Given the description of an element on the screen output the (x, y) to click on. 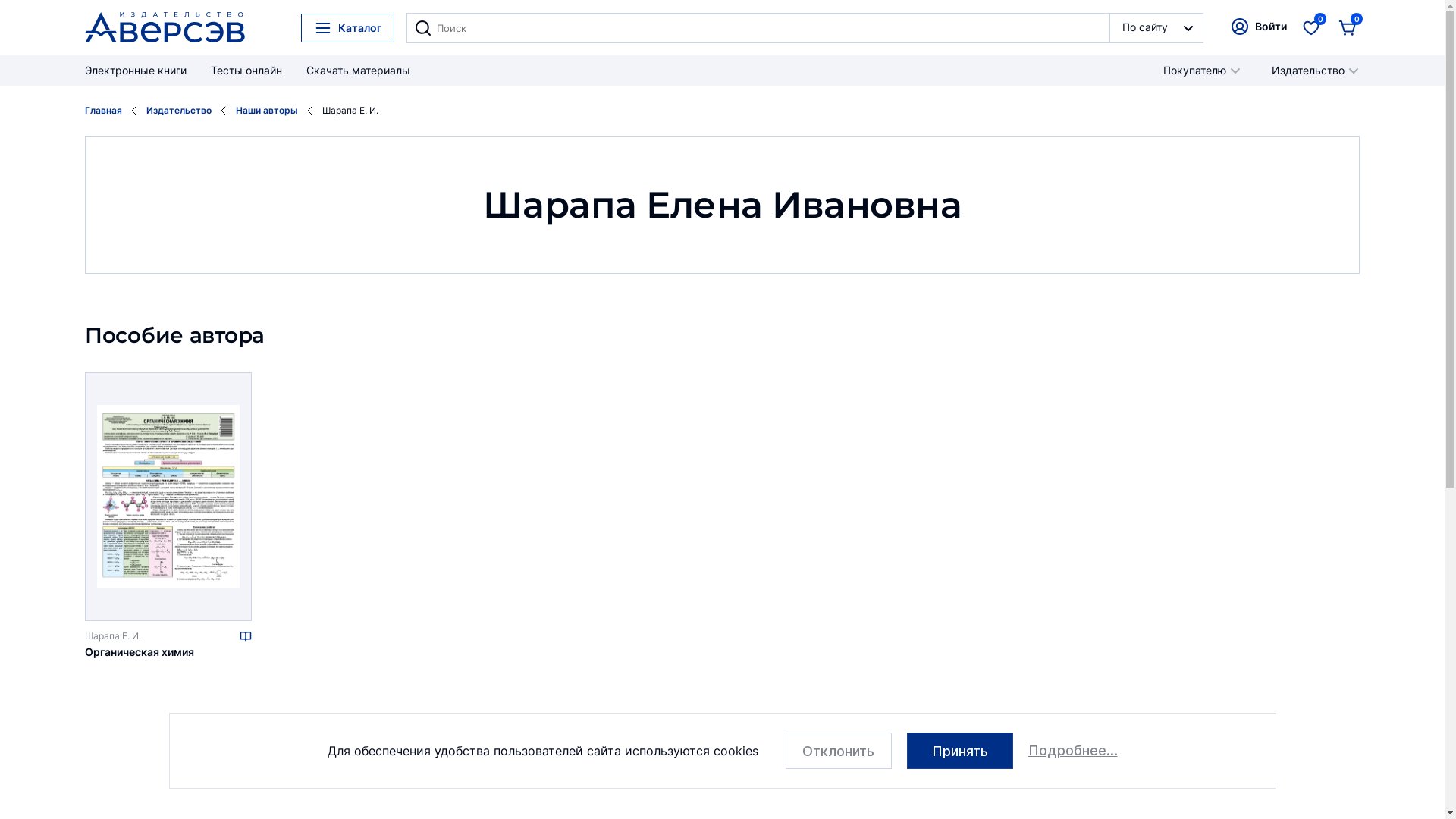
0 Element type: text (1311, 27)
